Given the description of an element on the screen output the (x, y) to click on. 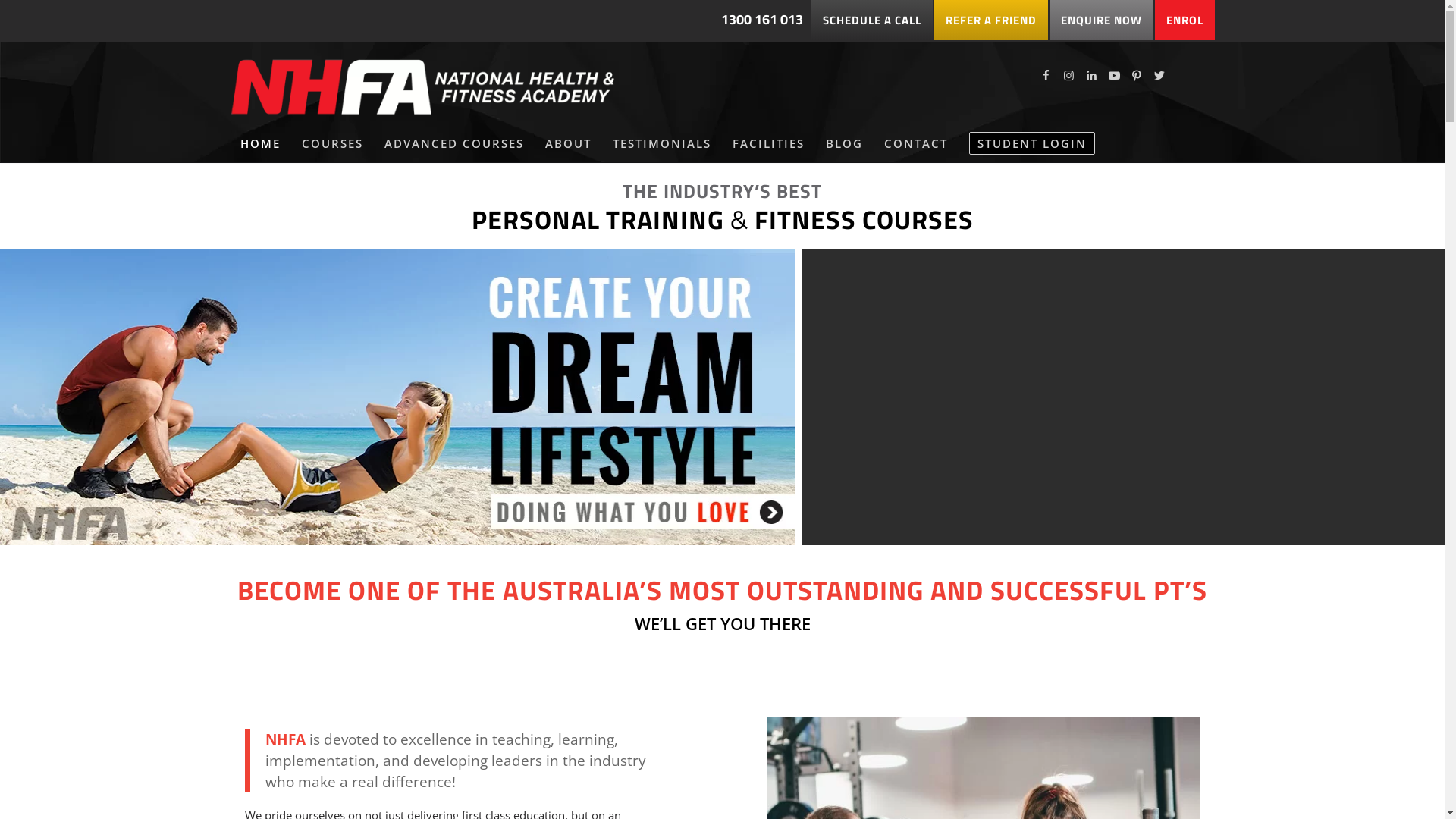
ABOUT Element type: text (567, 143)
COURSES Element type: text (332, 143)
BLOG Element type: text (843, 143)
Facebook2 Element type: hover (1045, 74)
Pinterest Element type: hover (1136, 74)
National Health and Fitness Academy Element type: hover (422, 82)
Linkedin2 Element type: hover (1090, 74)
ENQUIRE NOW Element type: text (1101, 20)
HOME Element type: text (259, 143)
YouTubePlay Element type: hover (1113, 74)
Dream-Lifestyle-Slide Element type: hover (397, 400)
ENROL Element type: text (1184, 20)
REFER A FRIEND Element type: text (991, 20)
Twitter Element type: hover (1159, 74)
ADVANCED COURSES Element type: text (453, 143)
InstaGram Element type: hover (1068, 74)
TESTIMONIALS Element type: text (661, 143)
1300 161 013 Element type: text (761, 19)
SCHEDULE A CALL Element type: text (871, 20)
FACILITIES Element type: text (768, 143)
STUDENT LOGIN Element type: text (1031, 143)
CONTACT Element type: text (915, 143)
